Given the description of an element on the screen output the (x, y) to click on. 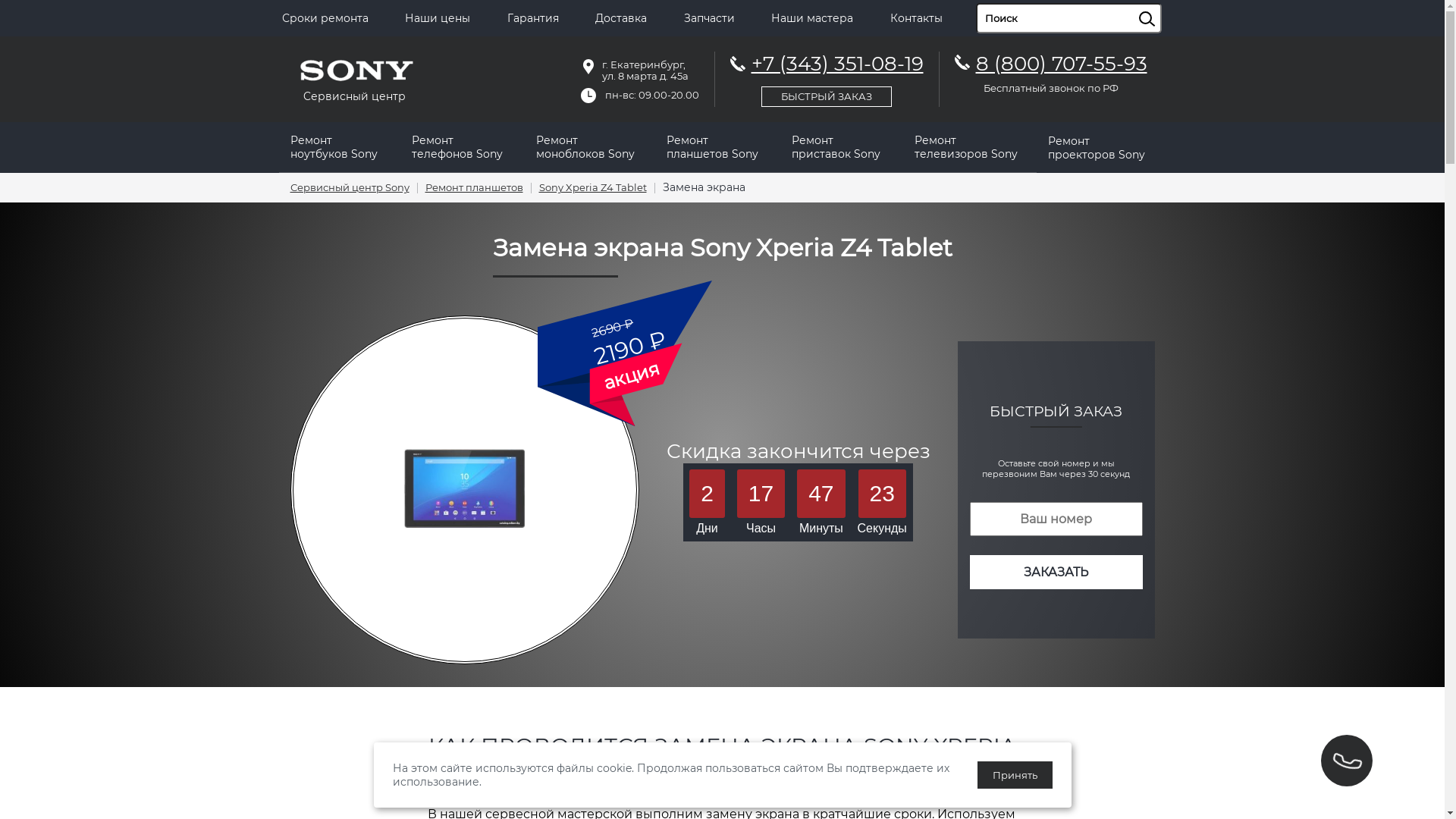
sisea.search Element type: text (1165, 3)
Sony Xperia Z4 Tablet Element type: text (591, 187)
+7 (343) 351-08-19 Element type: text (825, 77)
8 (800) 707-55-93 Element type: text (1060, 63)
